Given the description of an element on the screen output the (x, y) to click on. 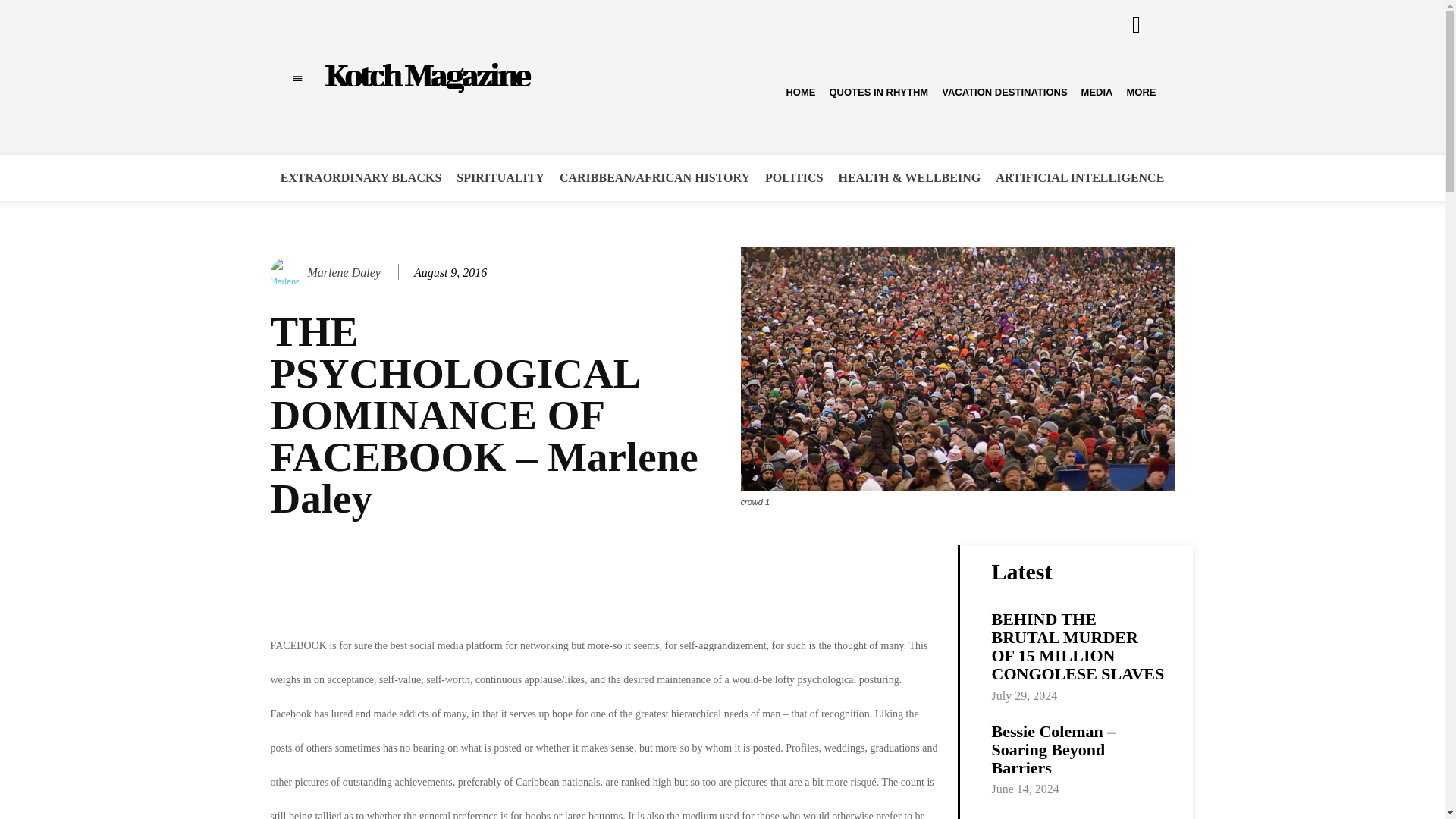
VACATION DESTINATIONS (1004, 91)
QUOTES IN RHYTHM (878, 91)
MORE (1140, 91)
HOME (800, 91)
MEDIA (1096, 91)
